Given the description of an element on the screen output the (x, y) to click on. 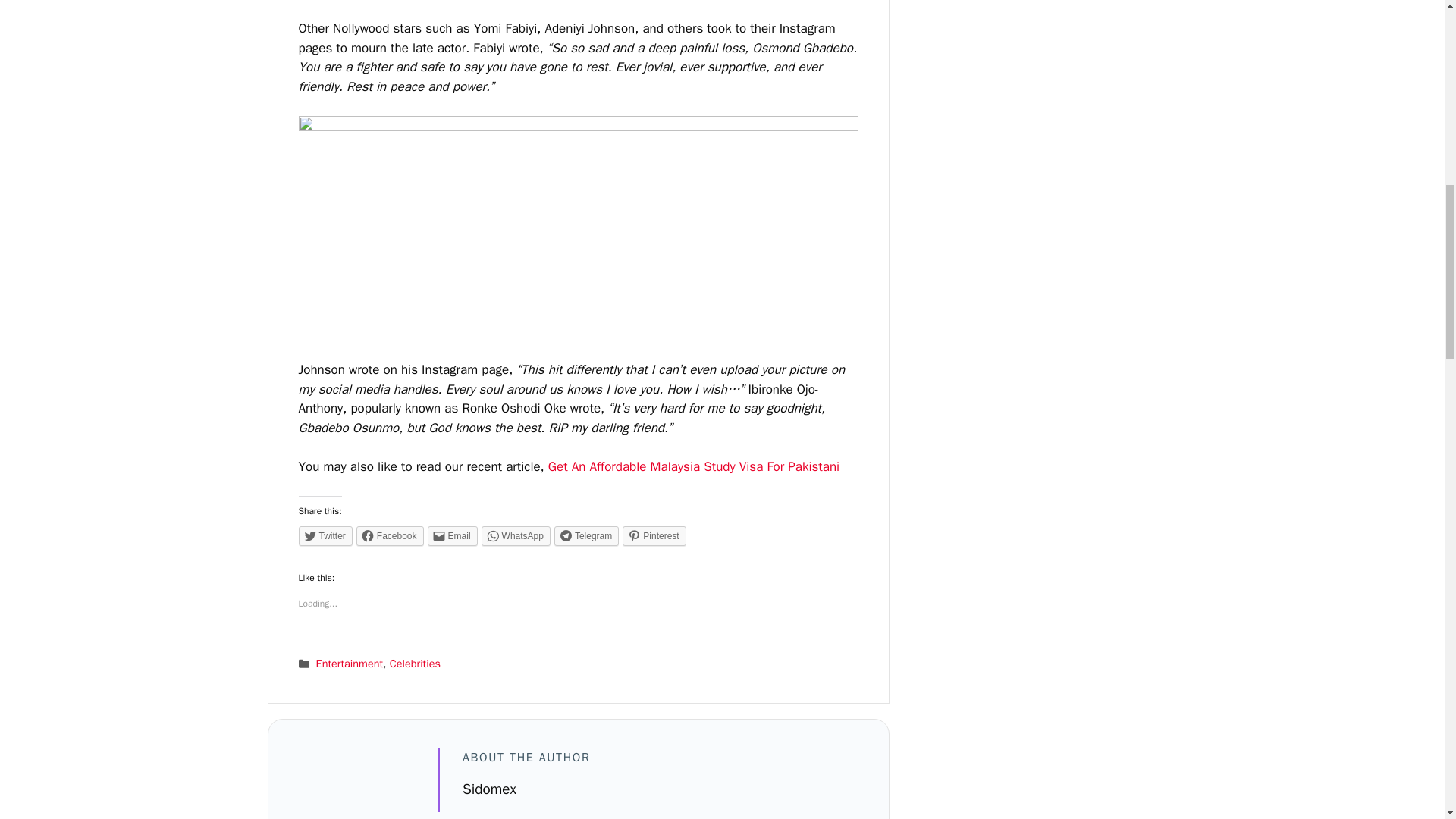
Click to share on Telegram (586, 536)
Get An Affordable Malaysia Study Visa For Pakistani (694, 466)
Click to share on Twitter (325, 536)
Click to email a link to a friend (452, 536)
Telegram (586, 536)
Scroll back to top (1406, 720)
Entertainment (349, 663)
Email (452, 536)
Click to share on Pinterest (654, 536)
WhatsApp (515, 536)
